Given the description of an element on the screen output the (x, y) to click on. 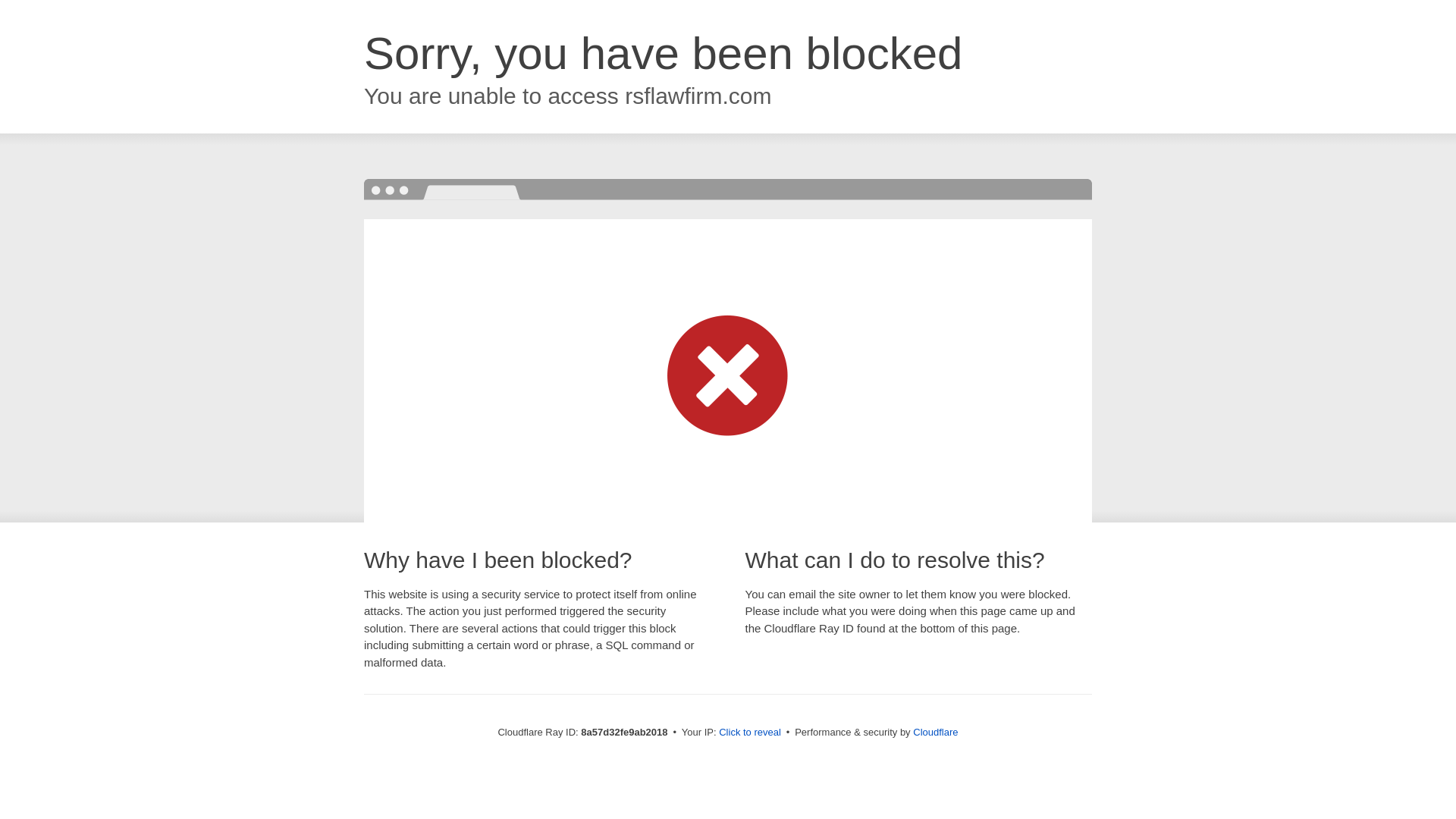
Cloudflare (935, 731)
Click to reveal (749, 732)
